Given the description of an element on the screen output the (x, y) to click on. 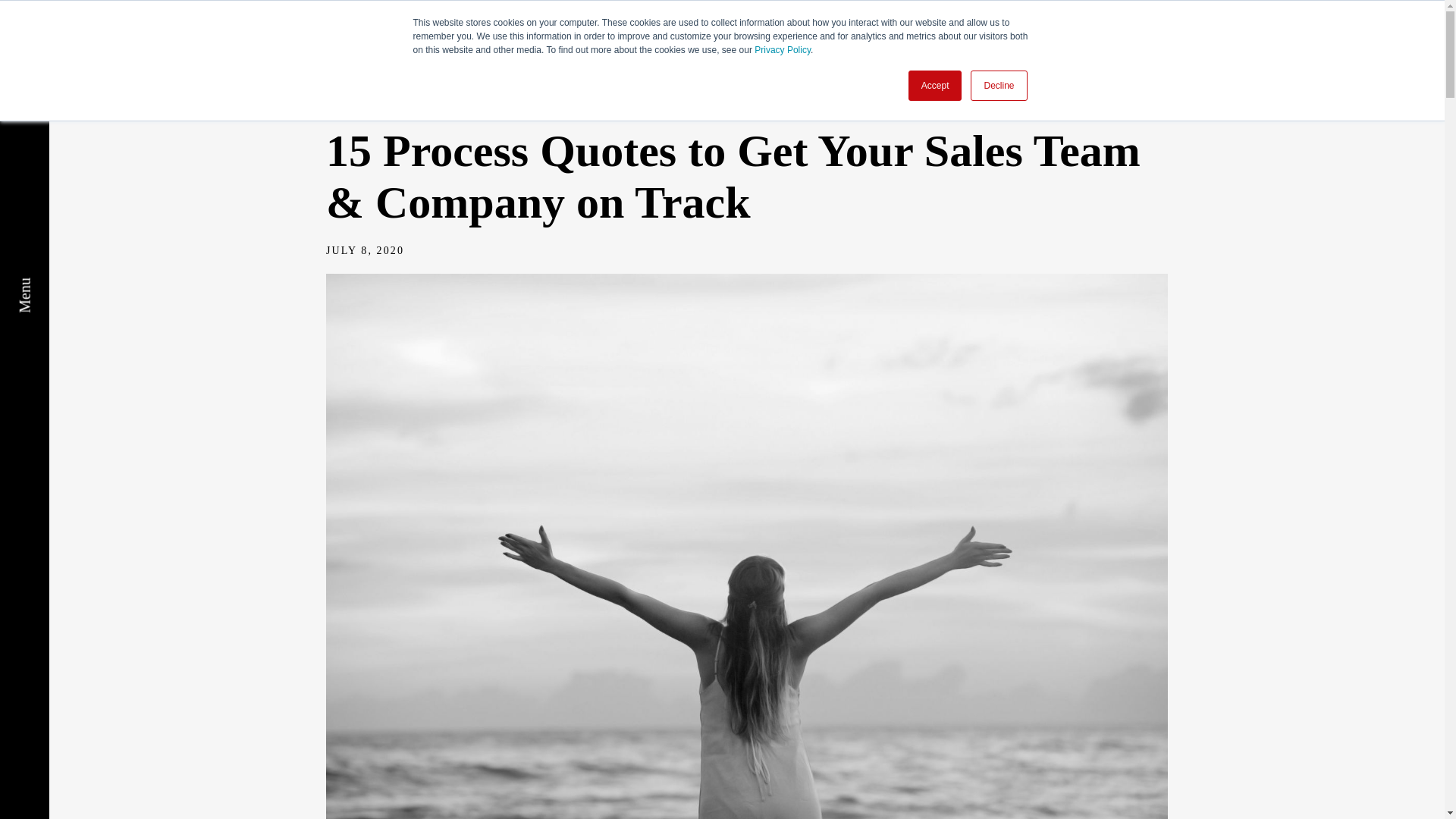
INDUSTRIES (1024, 45)
Decline (998, 85)
Accept (935, 85)
INSIGHTS (1324, 45)
Privacy Policy (782, 50)
RESOURCES (1179, 45)
EXPERTISE (871, 45)
Resources Page (361, 108)
